Given the description of an element on the screen output the (x, y) to click on. 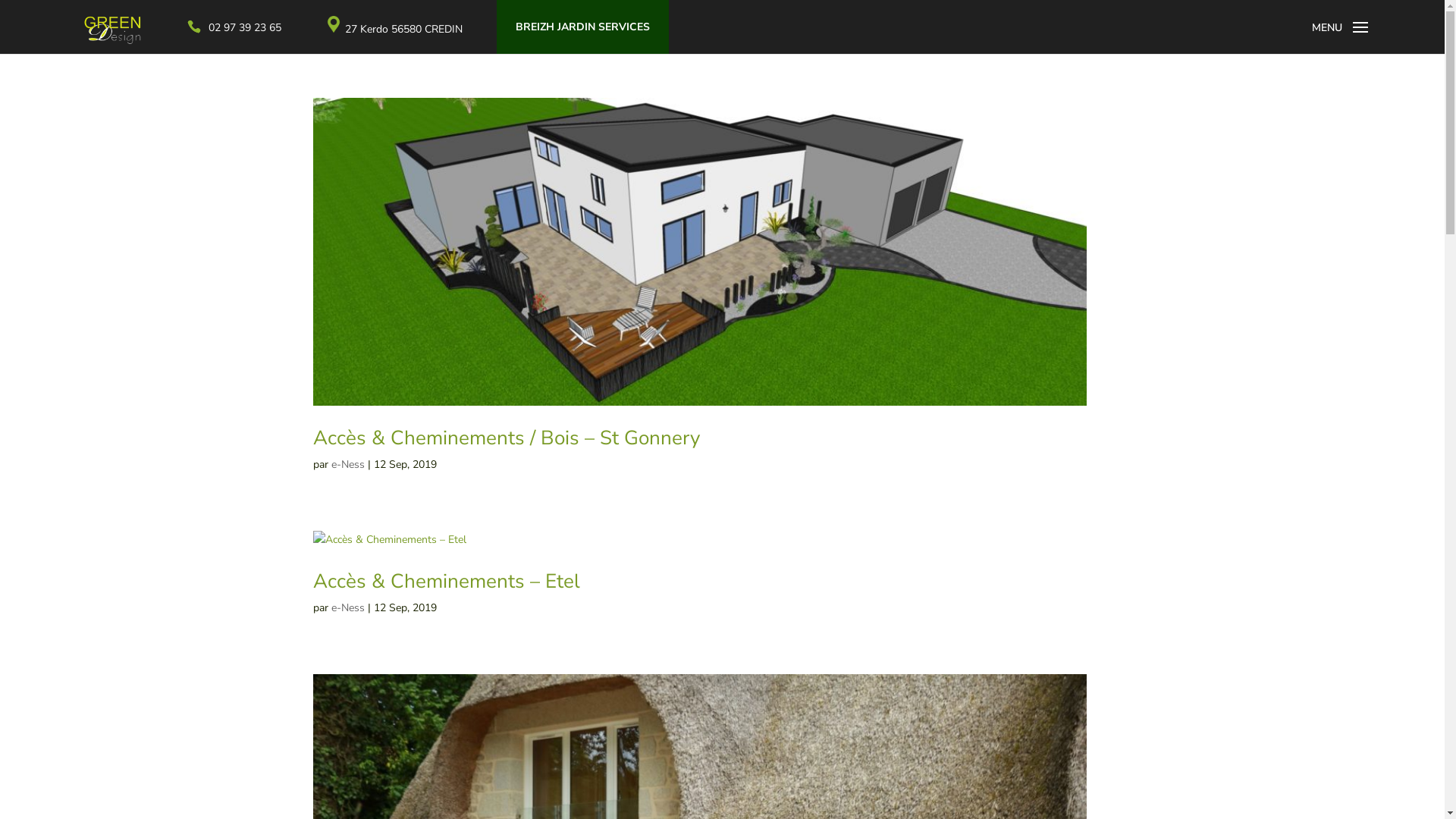
BREIZH JARDIN SERVICES Element type: text (582, 26)
e-Ness Element type: text (347, 607)
e-Ness Element type: text (347, 464)
02 97 39 23 65 Element type: text (244, 26)
